Given the description of an element on the screen output the (x, y) to click on. 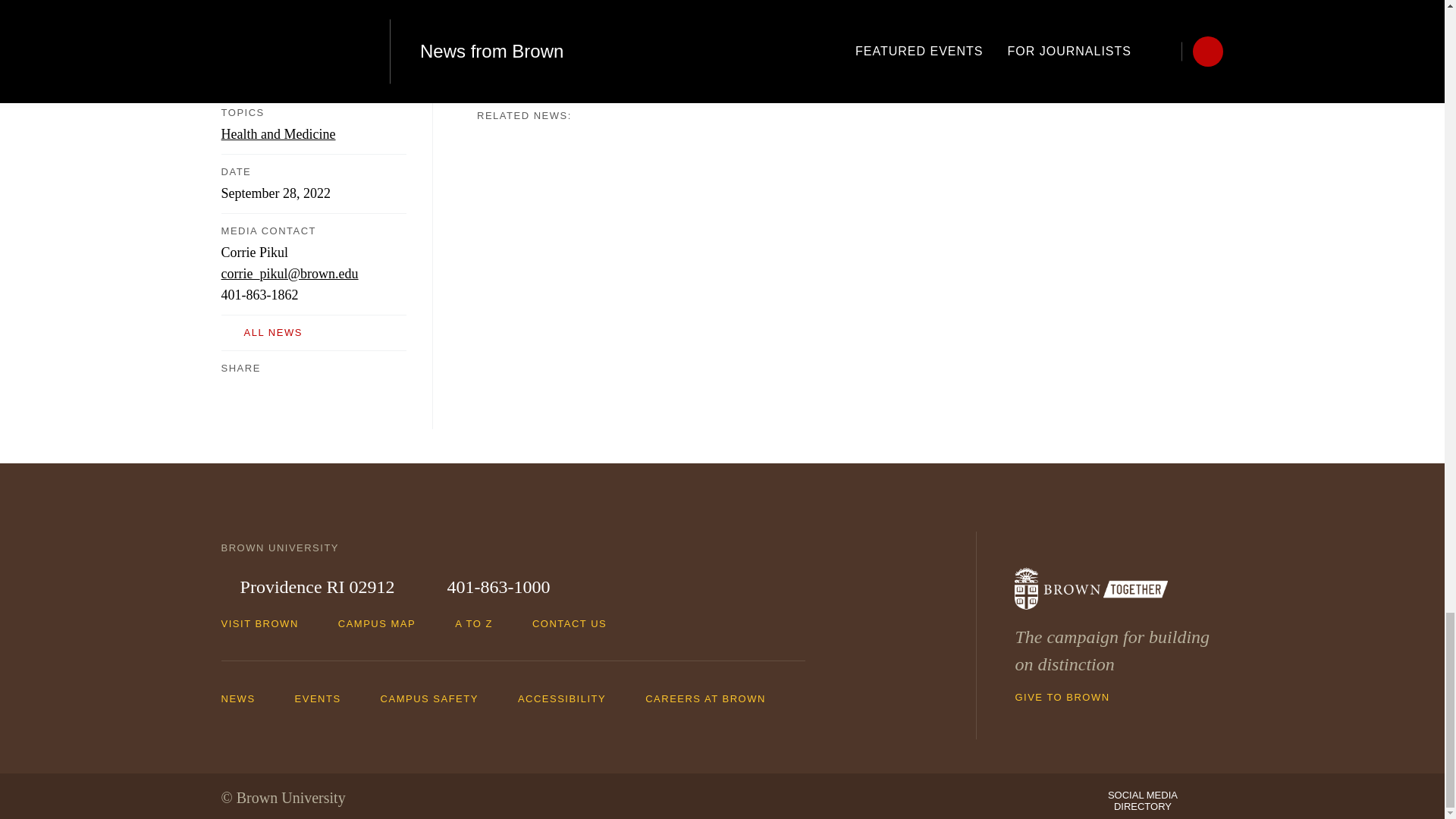
Warren Alpert Medical School (631, 23)
CONTACT US (576, 623)
CAMPUS MAP (383, 623)
VISIT BROWN (267, 623)
NEWS (245, 697)
CAMPUS SAFETY (436, 697)
A TO Z (481, 623)
401-863-1000 (489, 587)
Research (510, 23)
EVENTS (325, 697)
